Given the description of an element on the screen output the (x, y) to click on. 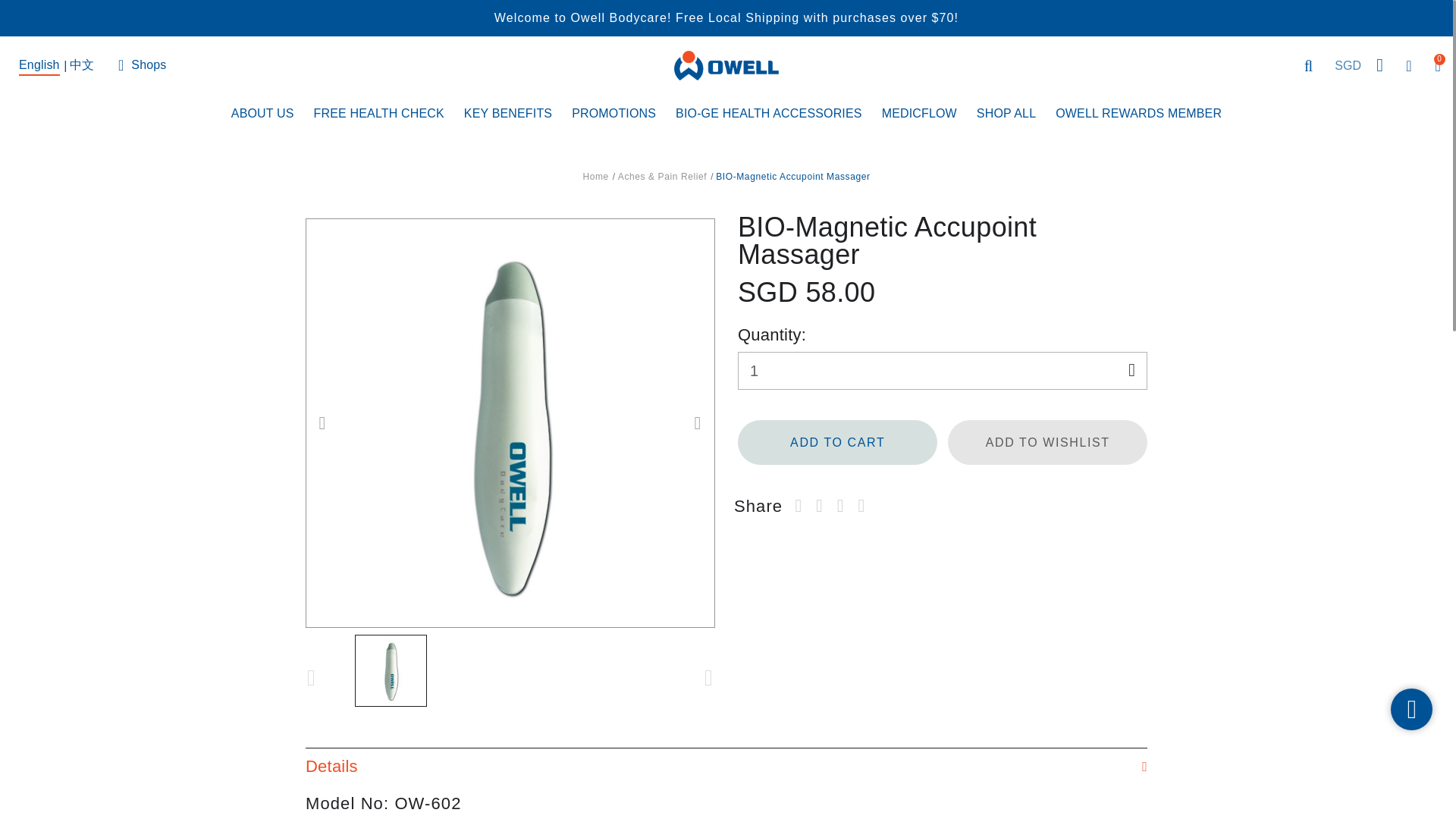
Add to cart (837, 443)
BIO-Magnetic Acupoint Massager (390, 670)
